Given the description of an element on the screen output the (x, y) to click on. 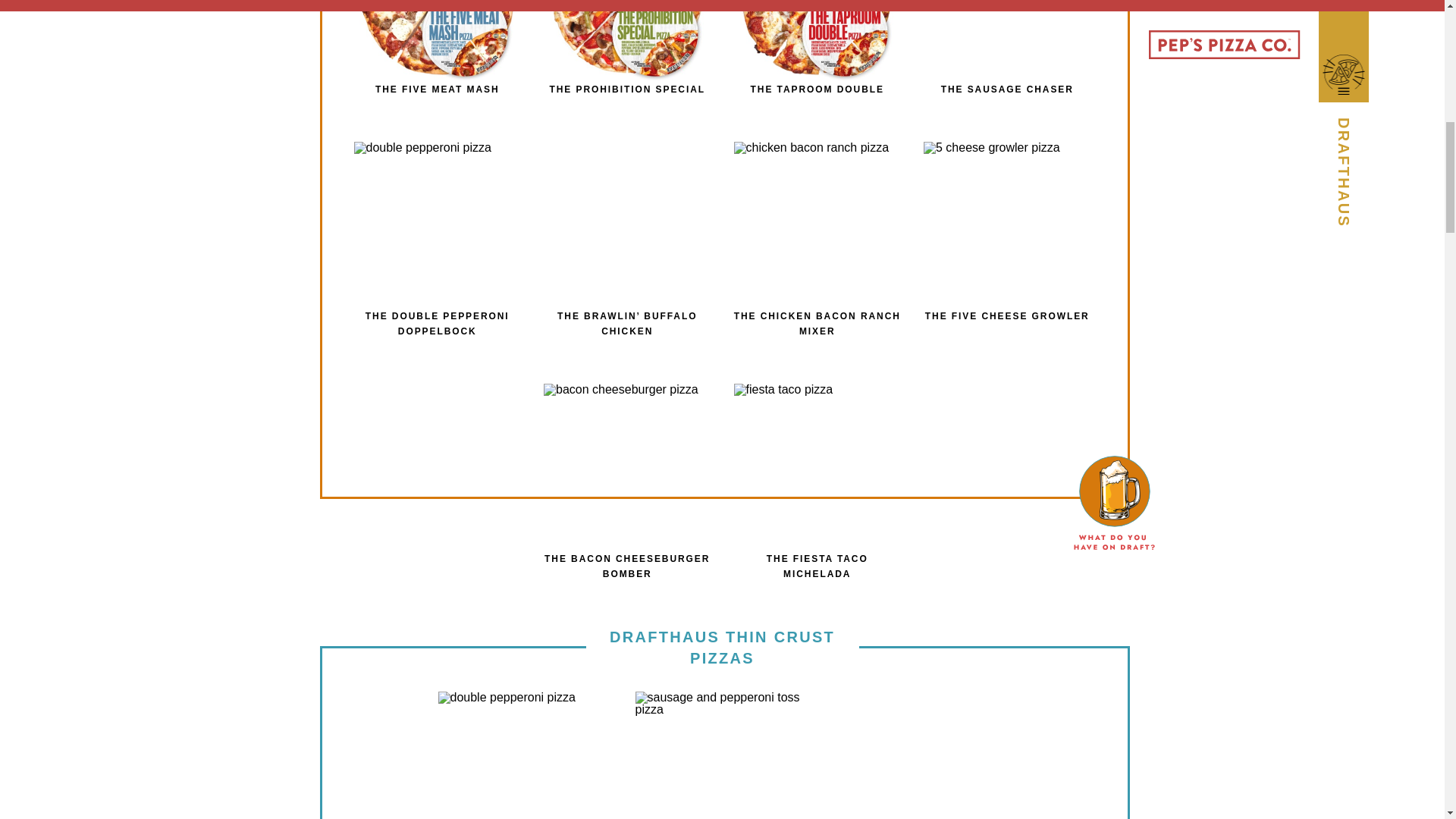
THE FIVE MEAT MASH (437, 70)
THE PROHIBITION SPECIAL (627, 70)
THE TAPROOM DOUBLE (817, 70)
THE DOUBLE PEPPERONI BULLSEYE (525, 755)
THE SAUSAGE CHASER (1006, 70)
THE HONEY SRIRACHA CHICKEN ROCKER (919, 755)
